Given the description of an element on the screen output the (x, y) to click on. 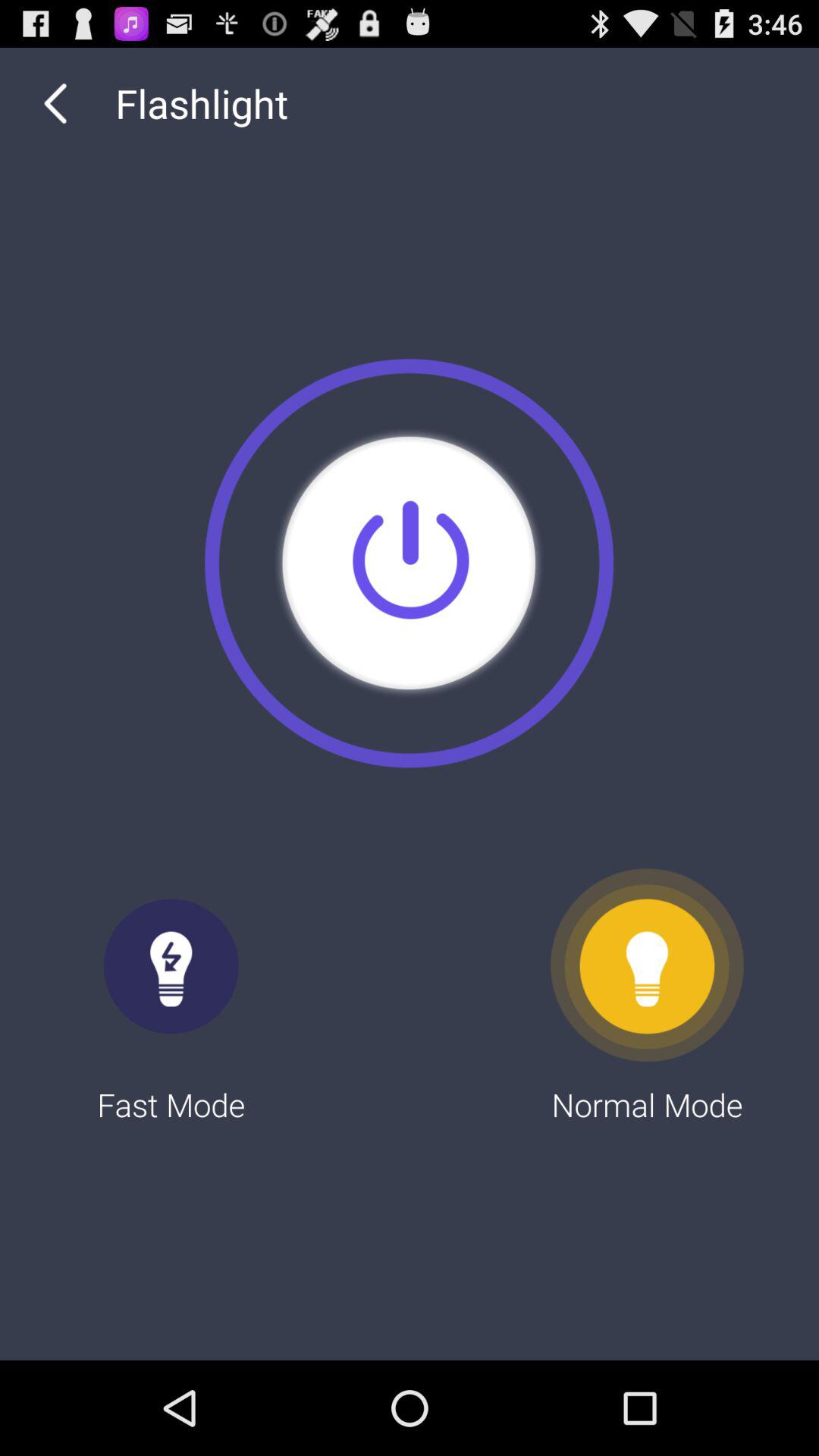
open the item below flashlight app (408, 562)
